Given the description of an element on the screen output the (x, y) to click on. 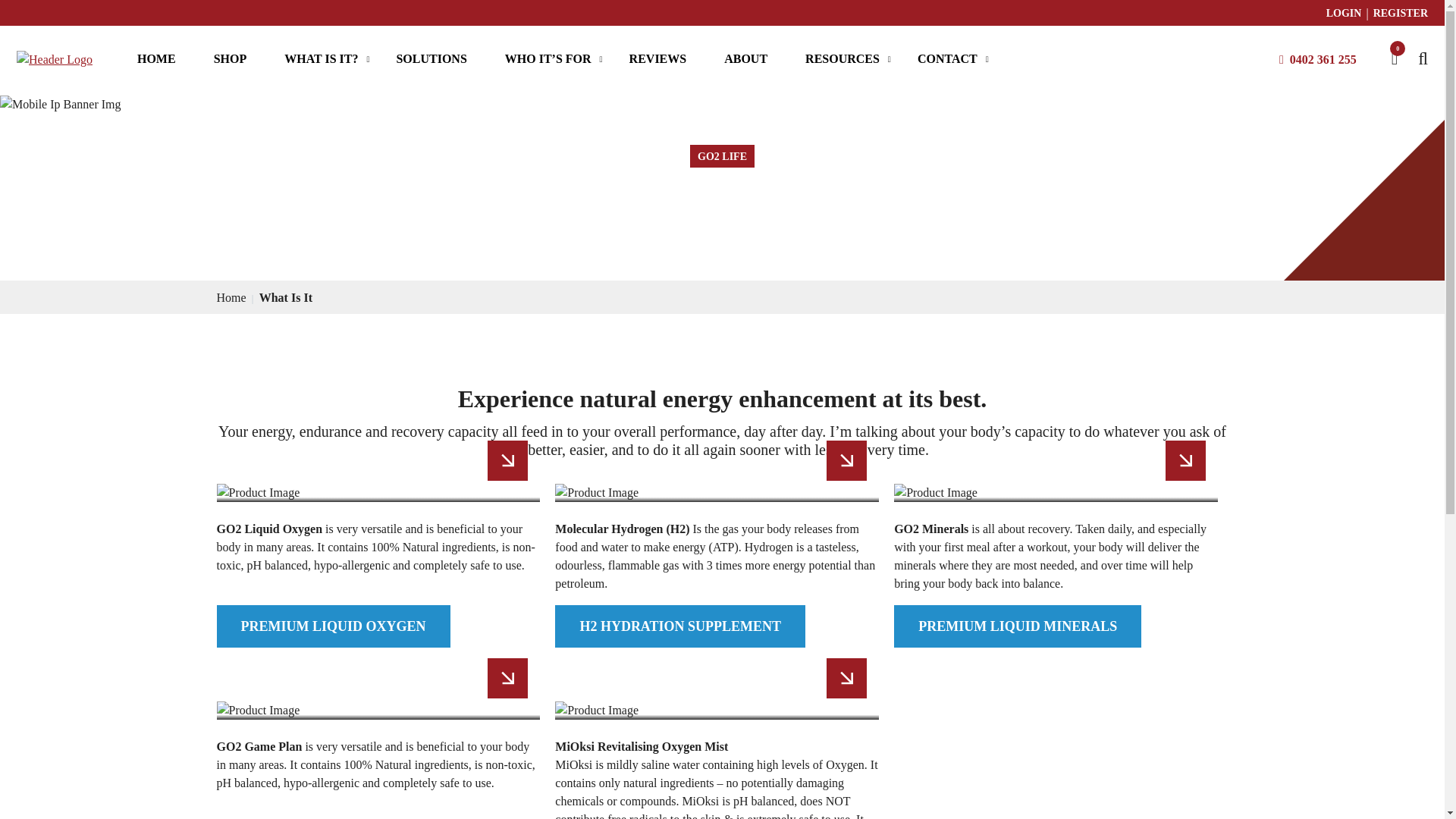
LOGIN (1343, 13)
SHOP (230, 59)
RESOURCES (842, 59)
SOLUTIONS (430, 59)
ABOUT (745, 59)
0402 361 255 (1322, 58)
REGISTER (1400, 13)
CONTACT (946, 59)
REVIEWS (657, 59)
HOME (156, 59)
WHAT IS IT? (320, 59)
